Given the description of an element on the screen output the (x, y) to click on. 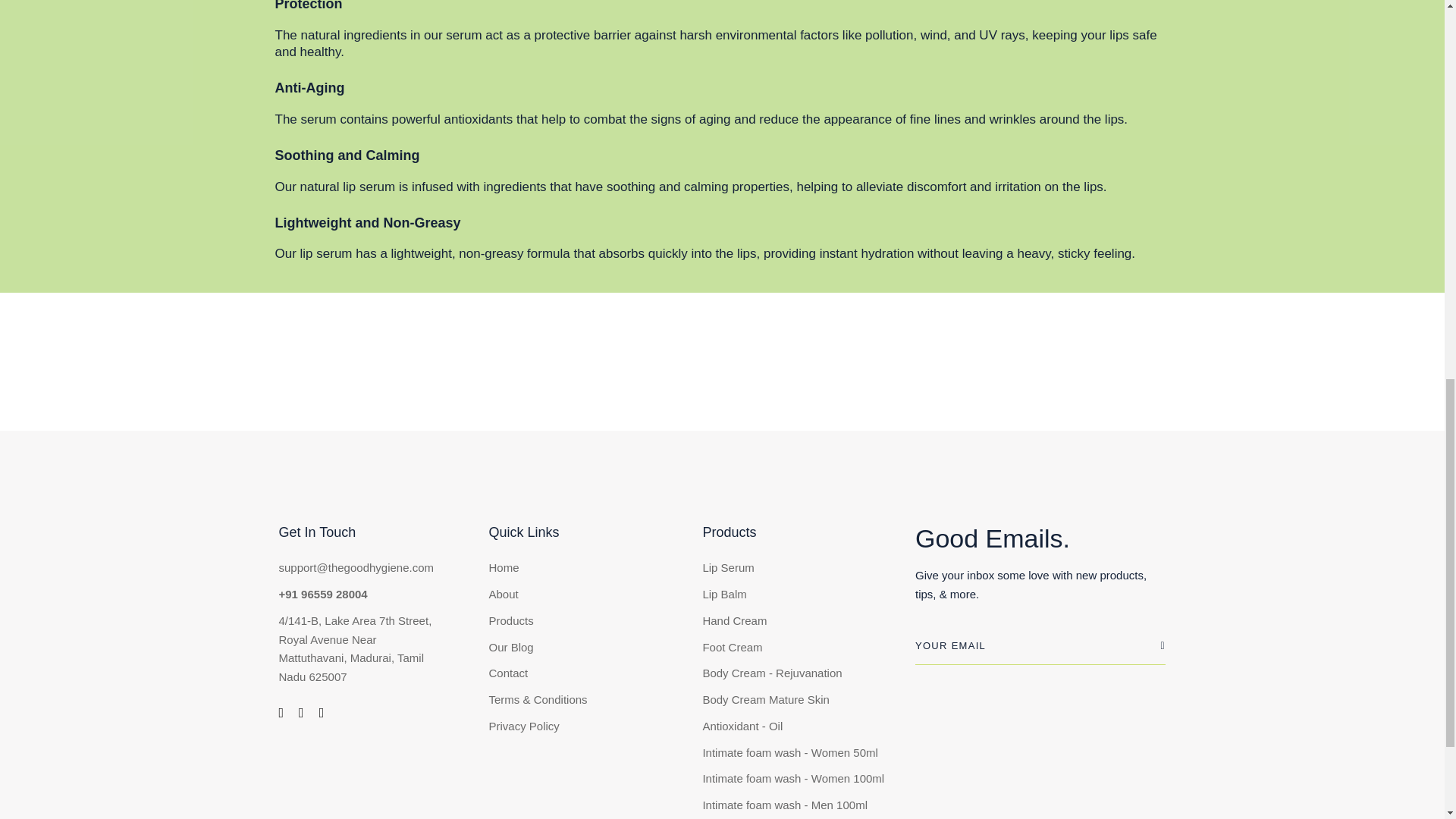
Hand Cream (734, 620)
Lip Serum (727, 568)
Our Blog (511, 647)
Body Cream Mature Skin (765, 700)
Products (511, 620)
Antioxidant - Oil (742, 726)
Intimate foam wash - Men 100ml (784, 805)
Lip Balm (723, 594)
About (503, 594)
Body Cream - Rejuvanation (771, 673)
Contact (508, 673)
Intimate foam wash - Women 50ml (789, 752)
Foot Cream (731, 647)
Home (504, 568)
Intimate foam wash - Women 100ml (792, 778)
